Given the description of an element on the screen output the (x, y) to click on. 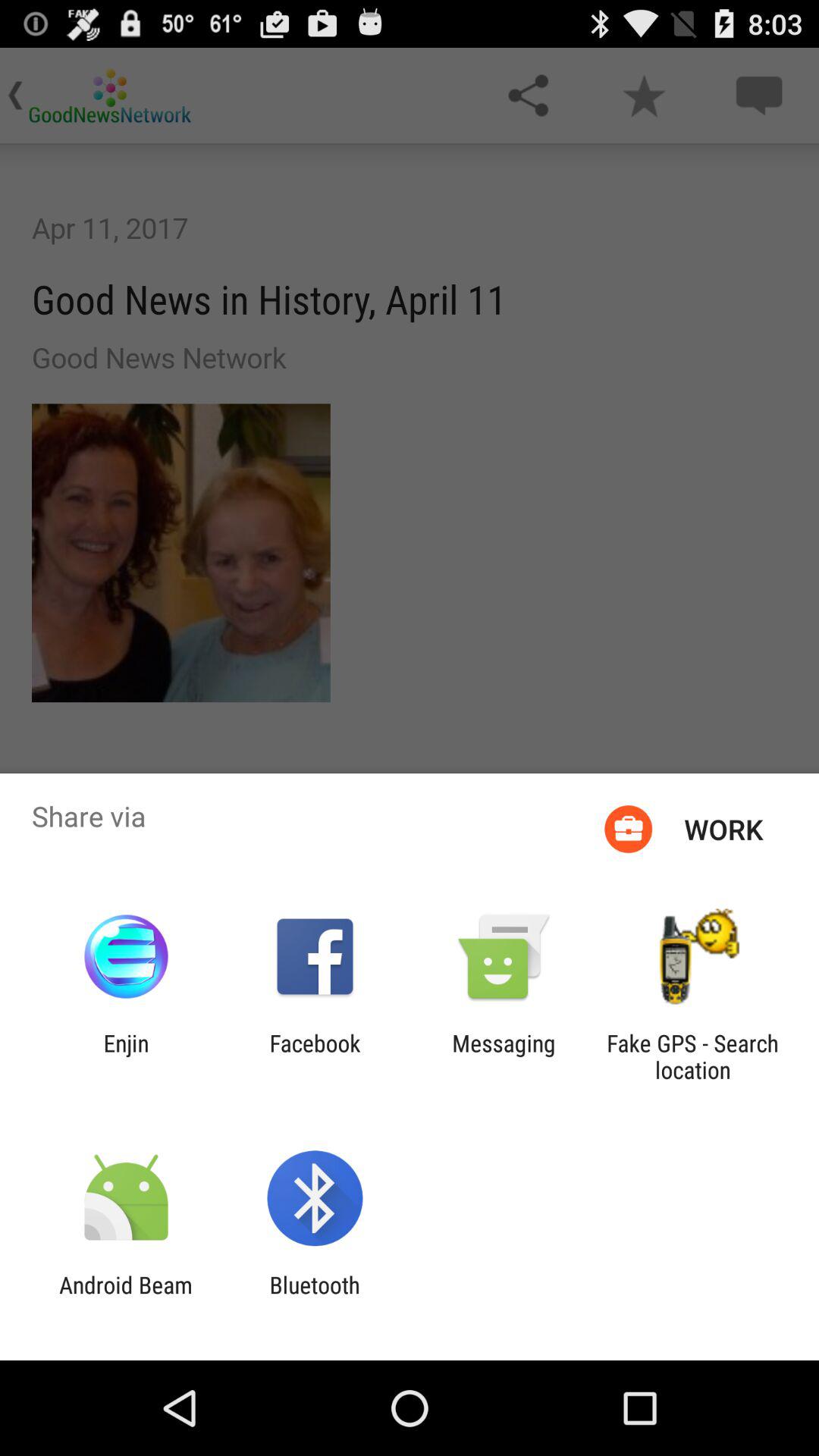
choose the icon at the bottom right corner (692, 1056)
